Given the description of an element on the screen output the (x, y) to click on. 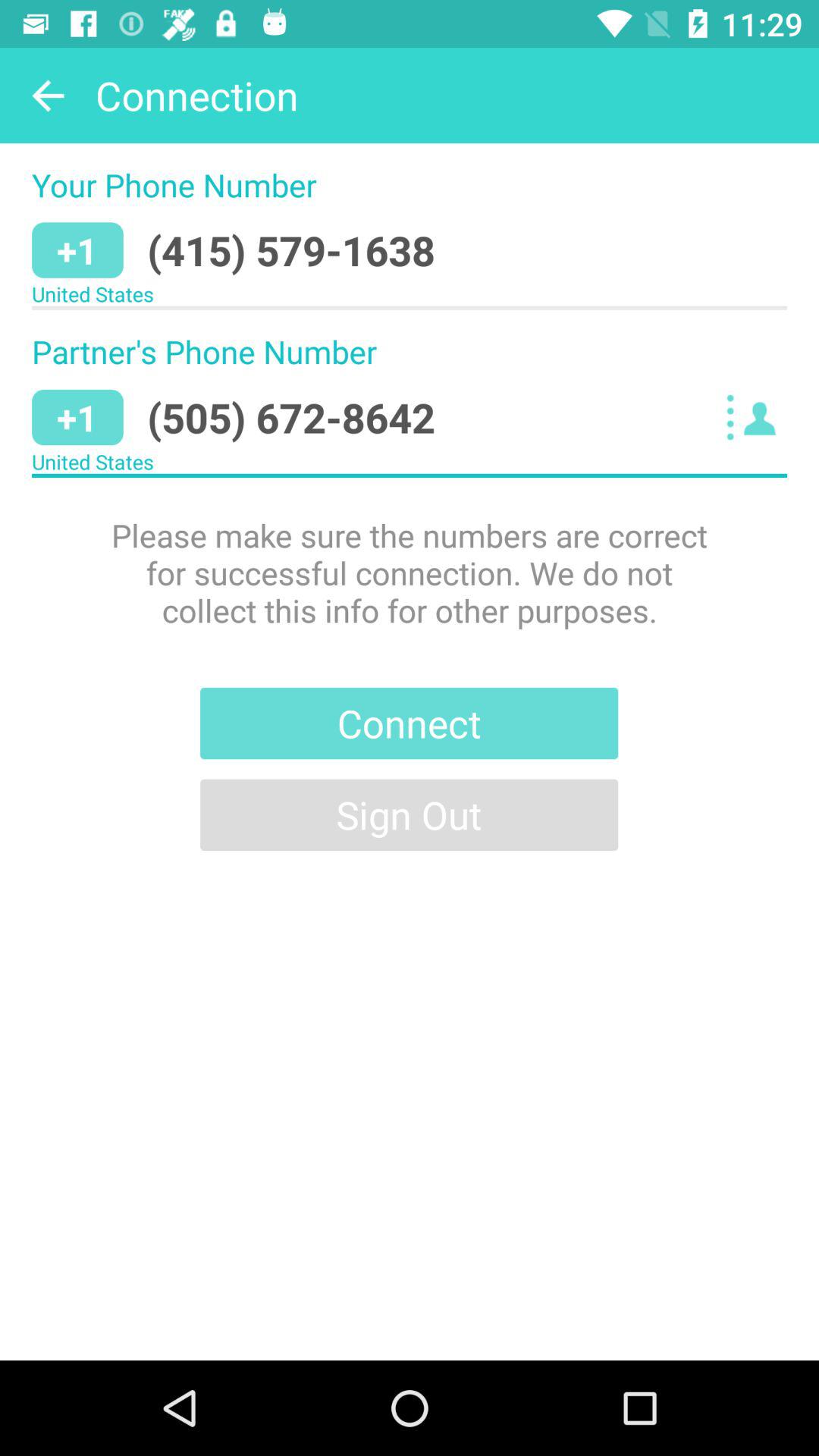
select item below connect (409, 814)
